Given the description of an element on the screen output the (x, y) to click on. 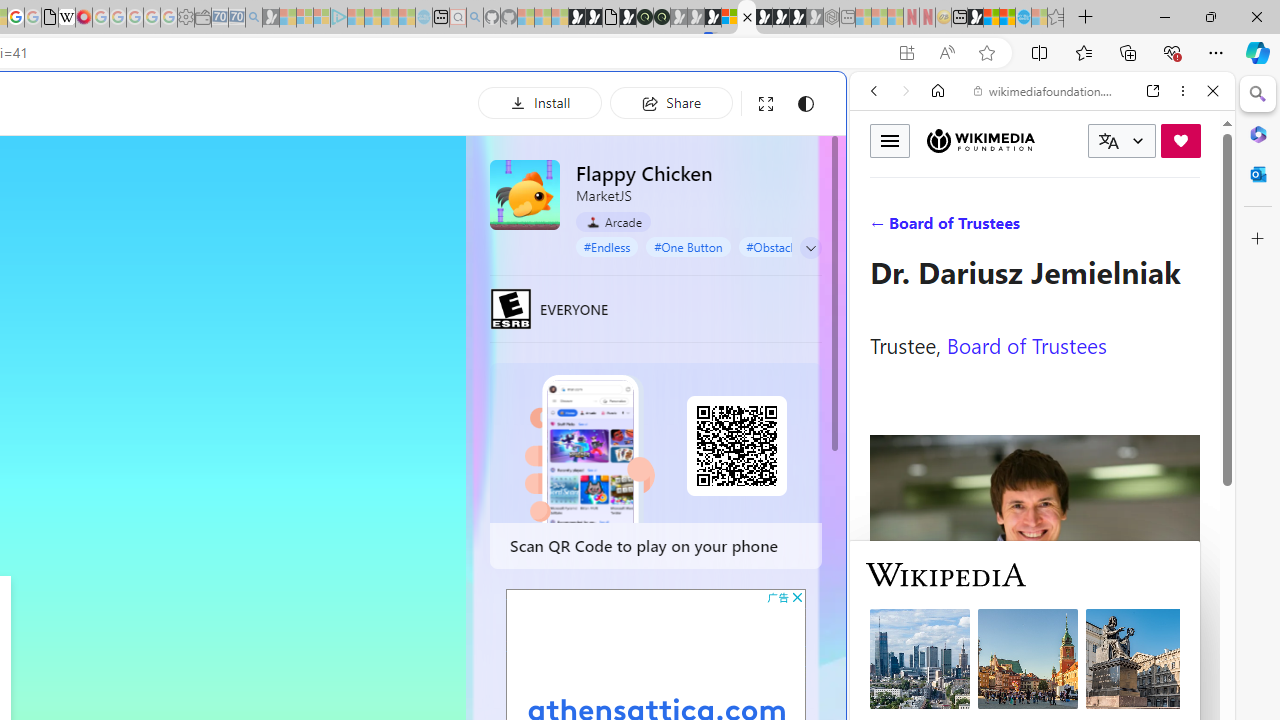
Close Customize pane (1258, 239)
Search Filter, Search Tools (1093, 228)
Toggle menu (890, 140)
Search Filter, VIDEOS (1006, 228)
Collections (1128, 52)
Microsoft account | Privacy - Sleeping (321, 17)
Forward (906, 91)
Add this page to favorites (Ctrl+D) (986, 53)
github - Search - Sleeping (474, 17)
Arcade (613, 222)
Favorites - Sleeping (1055, 17)
Wikimedia Foundation (980, 140)
google_privacy_policy_zh-CN.pdf (49, 17)
